Given the description of an element on the screen output the (x, y) to click on. 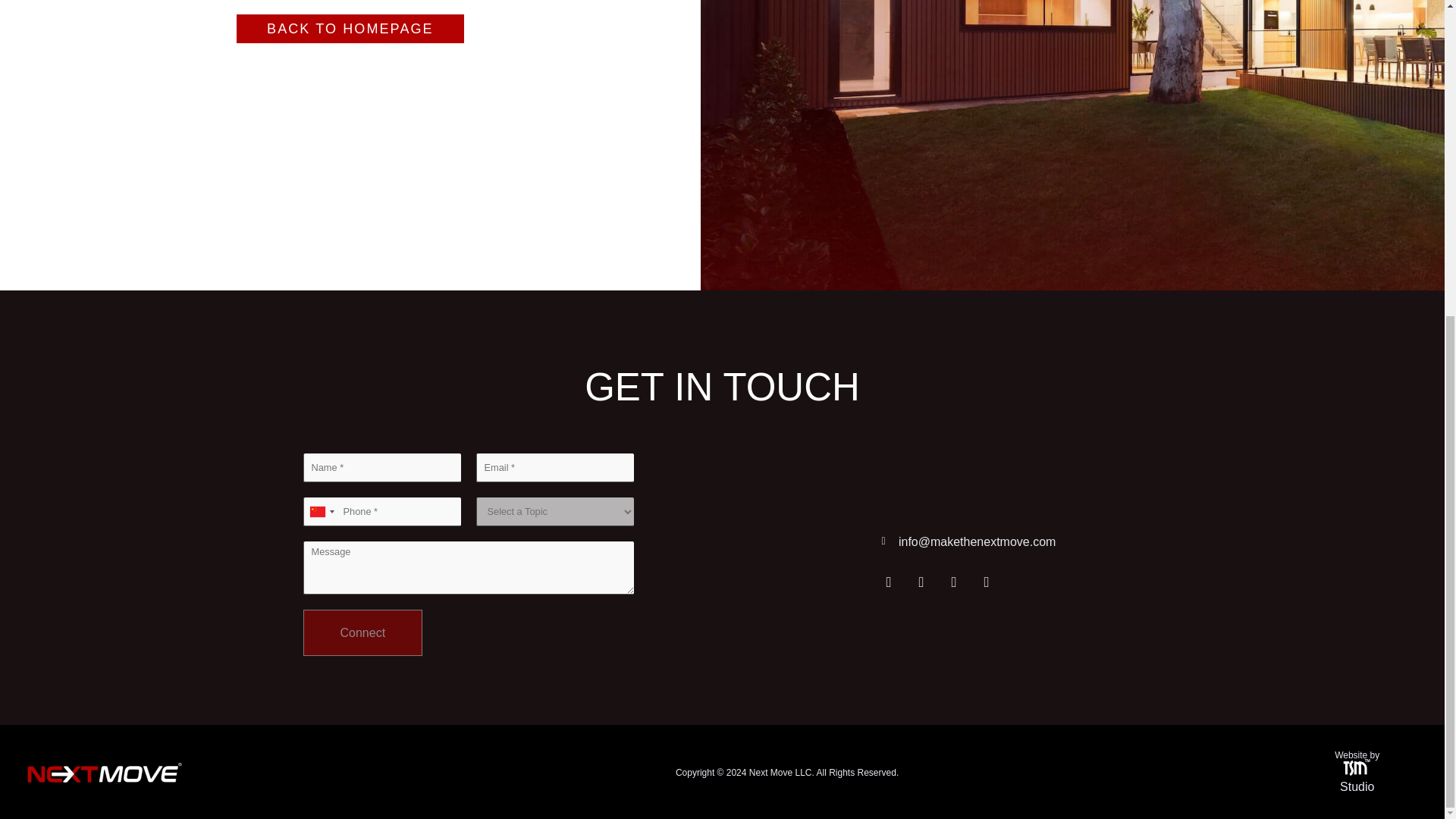
Instagram (887, 581)
Linkedin (985, 581)
Facebook-f (921, 581)
BACK TO HOMEPAGE (349, 28)
Connect (362, 632)
Twitter (953, 581)
